Given the description of an element on the screen output the (x, y) to click on. 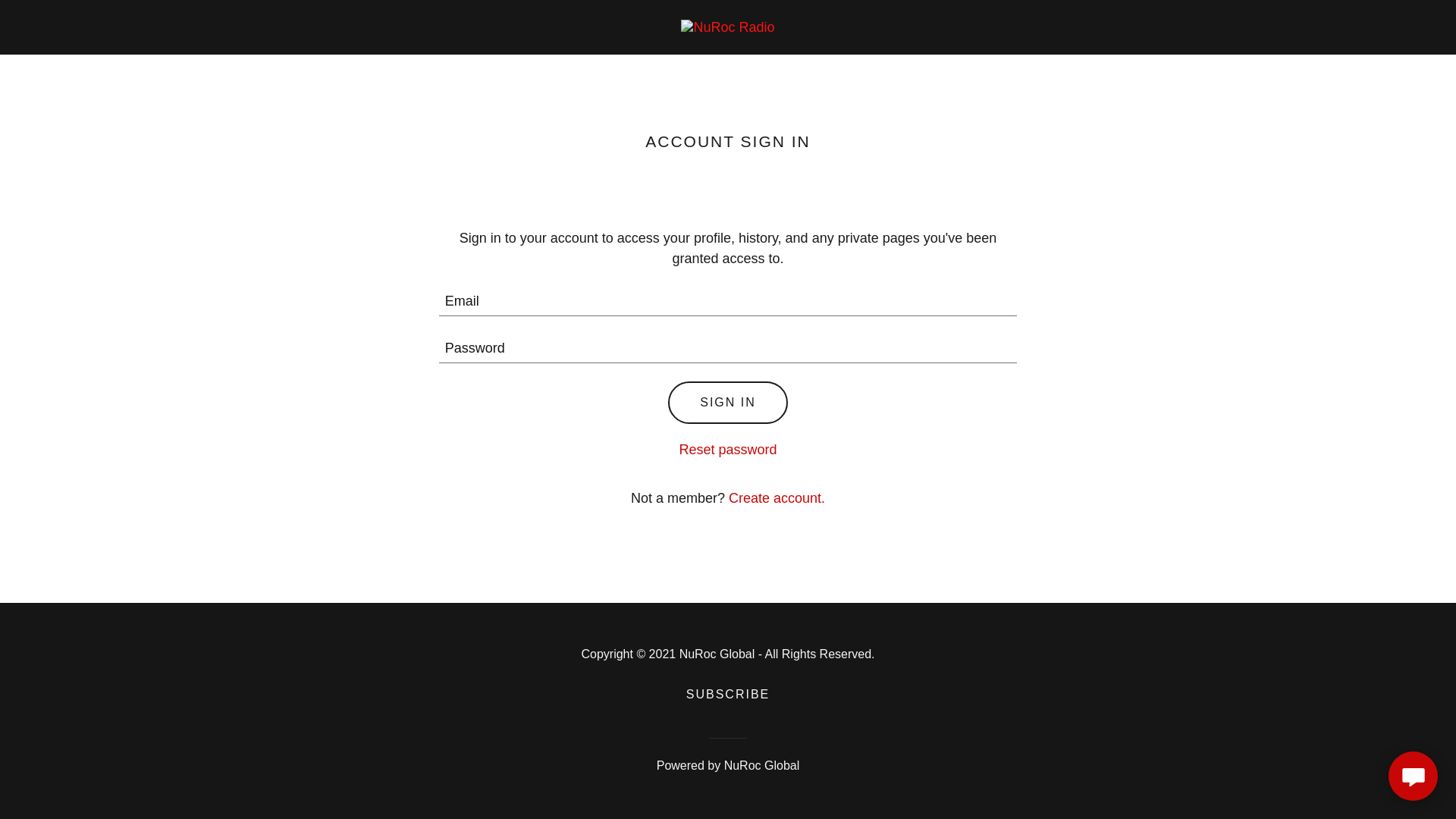
NuRoc Radio (727, 26)
